Given the description of an element on the screen output the (x, y) to click on. 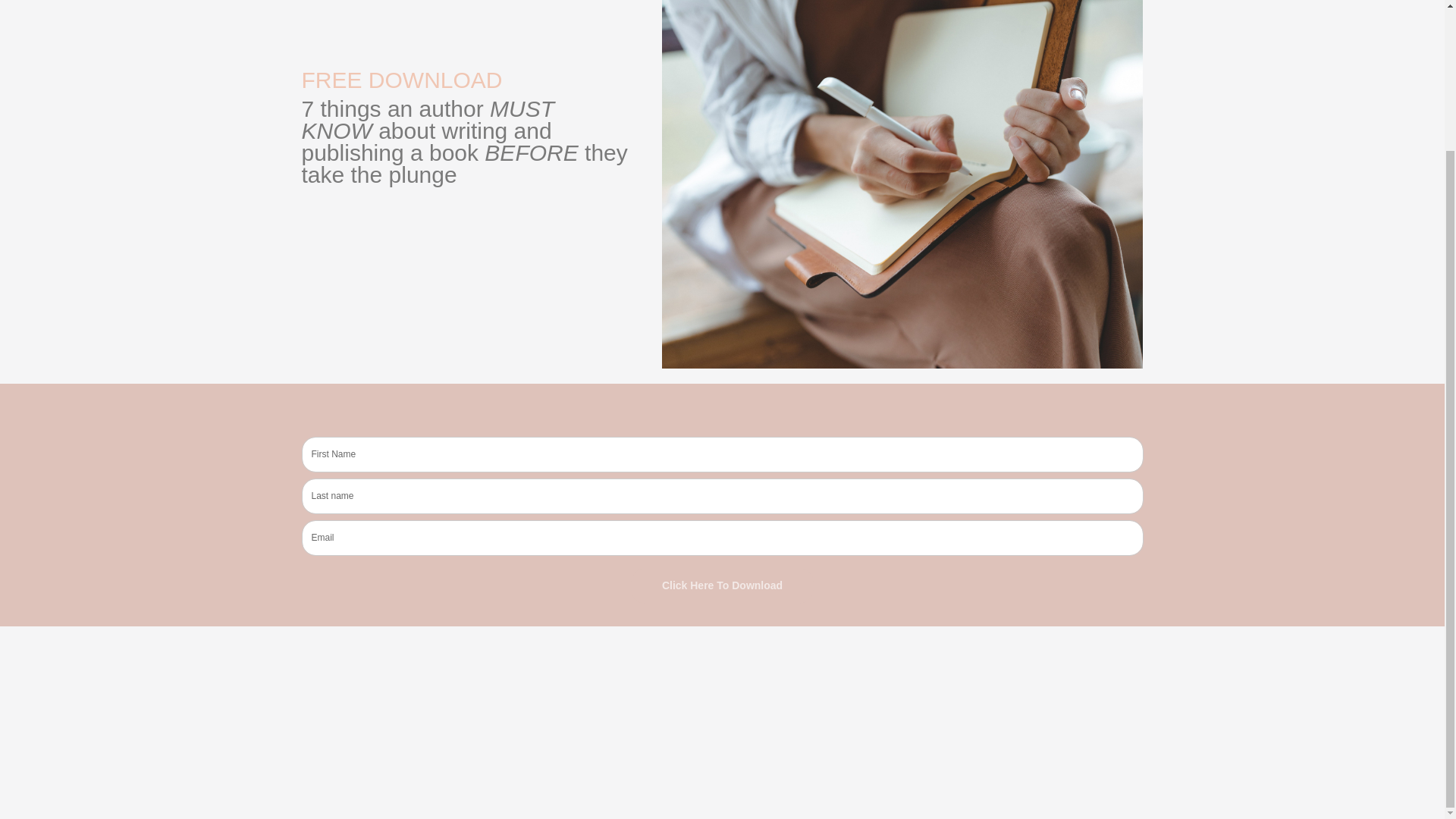
Click Here To Download (721, 585)
